Given the description of an element on the screen output the (x, y) to click on. 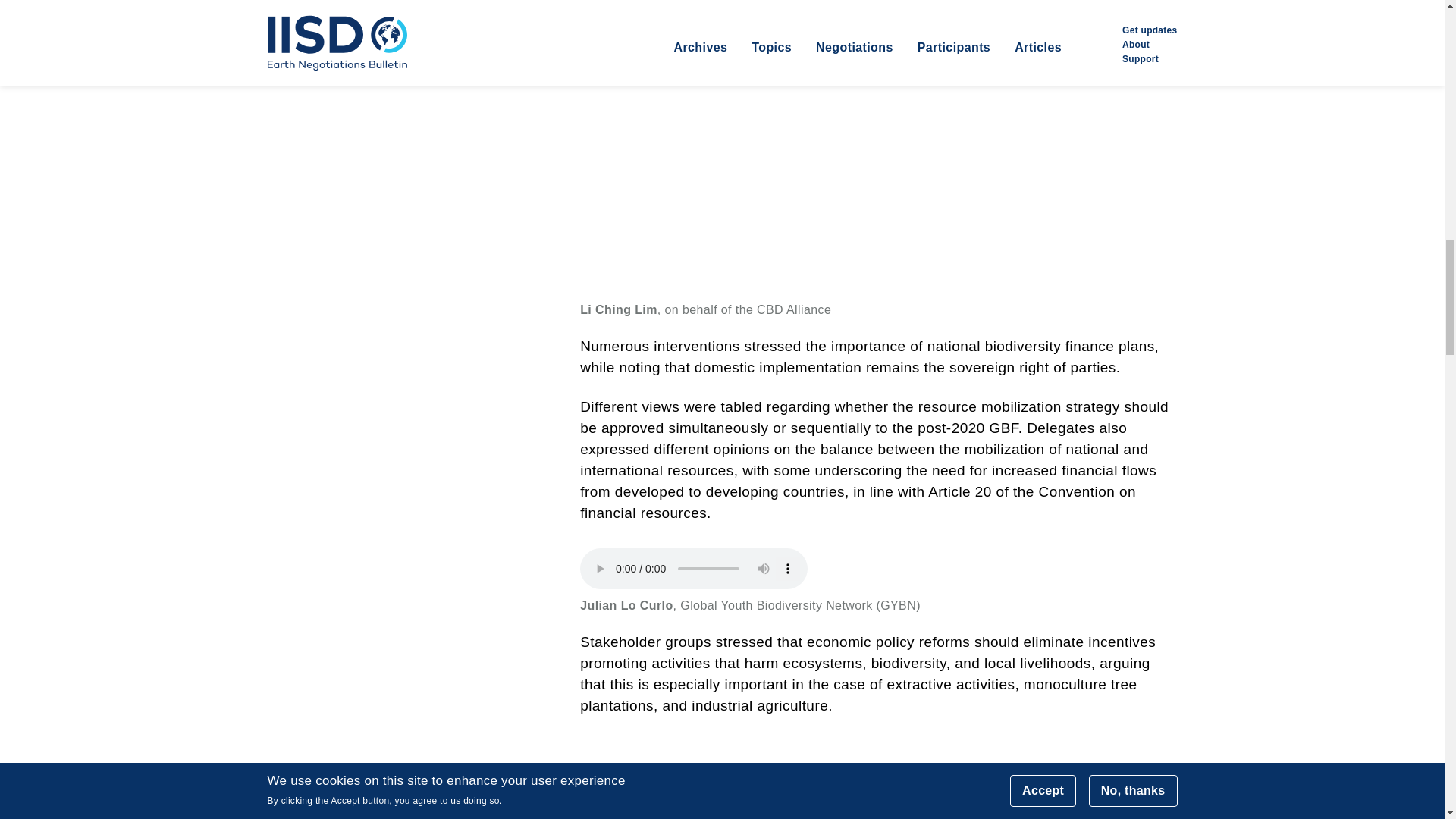
Ana Di Pangracio, on behalf of CBD Women's Caucus (877, 780)
